Given the description of an element on the screen output the (x, y) to click on. 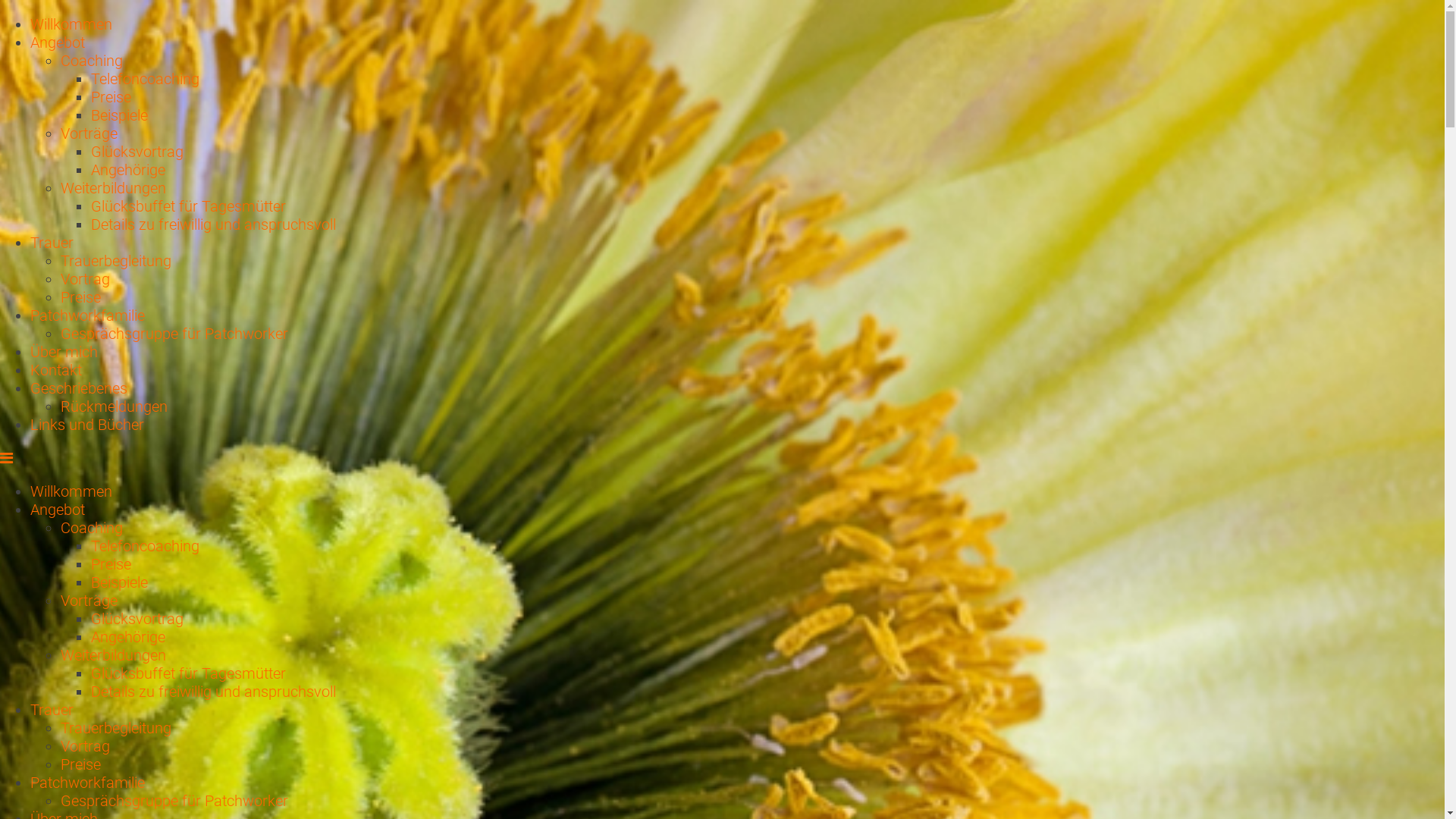
Trauer Element type: text (51, 709)
Preise Element type: text (80, 764)
Angebot Element type: text (57, 509)
Trauer Element type: text (51, 242)
Preise Element type: text (80, 297)
Details zu freiwillig und anspruchsvoll Element type: text (213, 224)
Preise Element type: text (111, 96)
Coaching Element type: text (91, 527)
Kontakt Element type: text (55, 369)
Beispiele Element type: text (119, 115)
Geschriebenes Element type: text (78, 388)
Vortrag Element type: text (84, 746)
Patchworkfamilie Element type: text (87, 782)
Beispiele Element type: text (119, 582)
Telefoncoaching Element type: text (145, 545)
Trauerbegleitung Element type: text (115, 727)
Weiterbildungen Element type: text (113, 655)
Angebot Element type: text (57, 42)
Details zu freiwillig und anspruchsvoll Element type: text (213, 691)
Willkommen Element type: text (71, 24)
Weiterbildungen Element type: text (113, 187)
Trauerbegleitung Element type: text (115, 260)
Telefoncoaching Element type: text (145, 78)
Vortrag Element type: text (84, 278)
Coaching Element type: text (91, 60)
Patchworkfamilie Element type: text (87, 315)
Preise Element type: text (111, 564)
Willkommen Element type: text (71, 491)
